Given the description of an element on the screen output the (x, y) to click on. 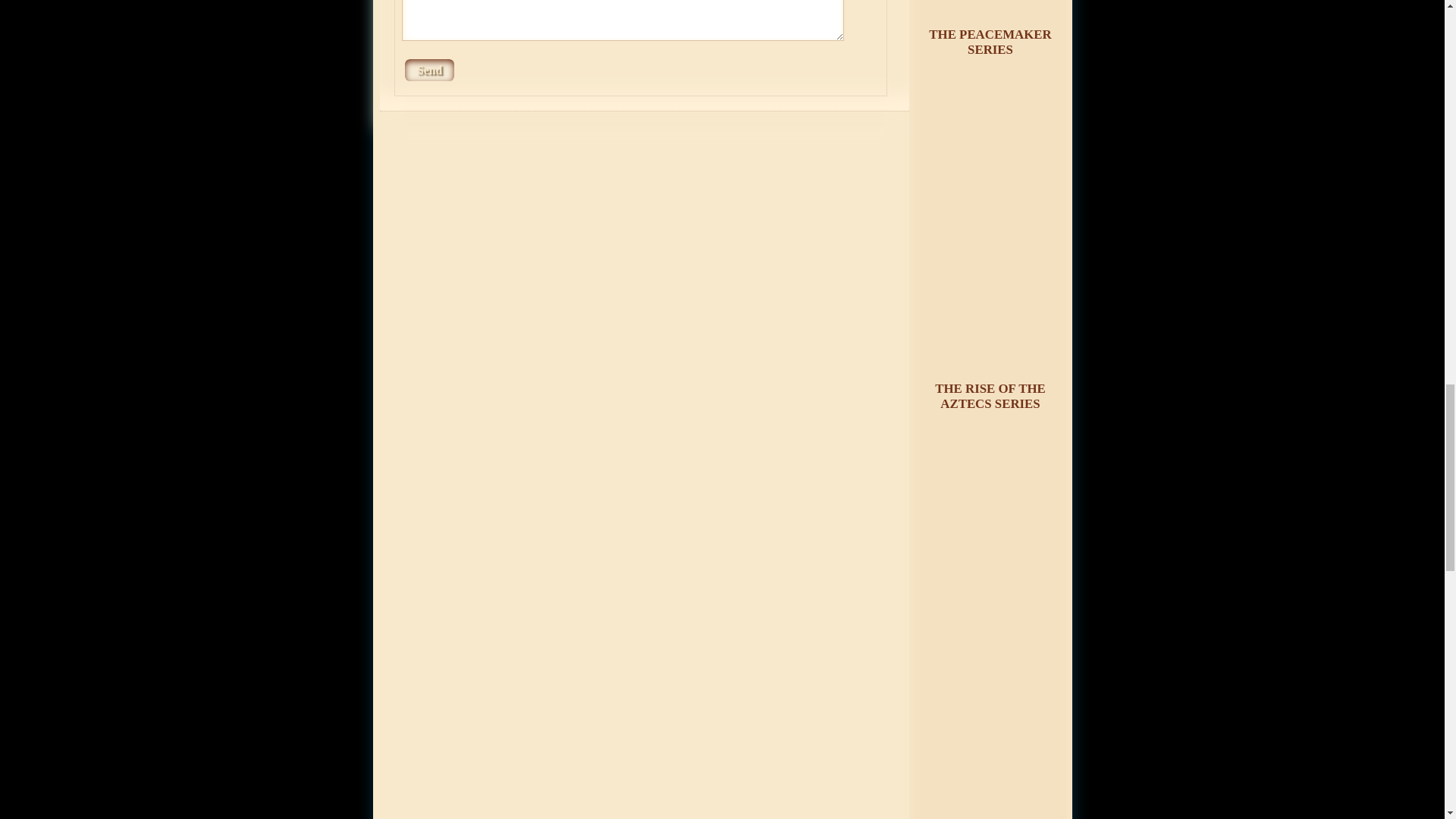
Send (429, 69)
